Given the description of an element on the screen output the (x, y) to click on. 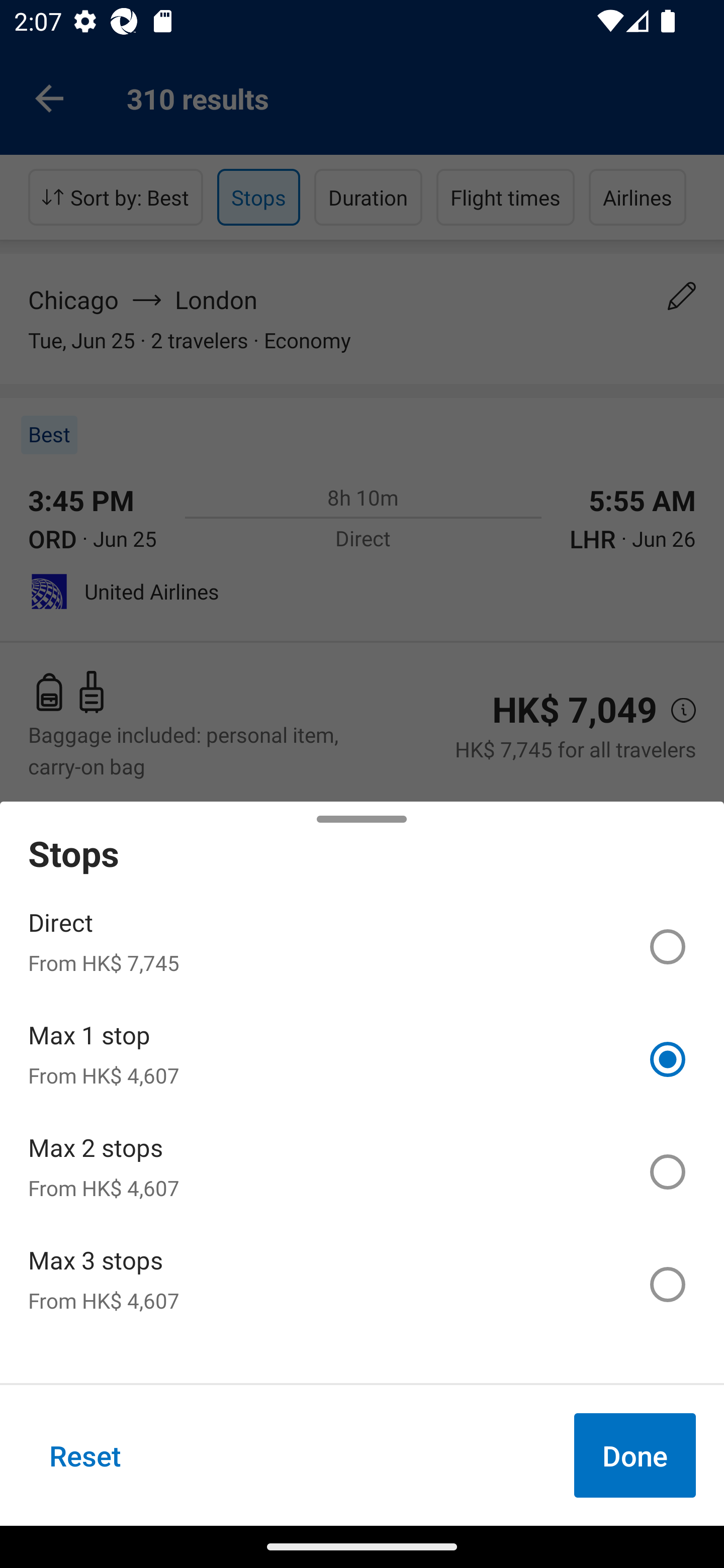
Direct From HK$ 7,745 (362, 946)
Max 1 stop From HK$ 4,607 (362, 1059)
Max 2 stops From HK$ 4,607 (362, 1171)
Max 3 stops From HK$ 4,607 (362, 1283)
Reset (85, 1454)
Done (634, 1454)
